Given the description of an element on the screen output the (x, y) to click on. 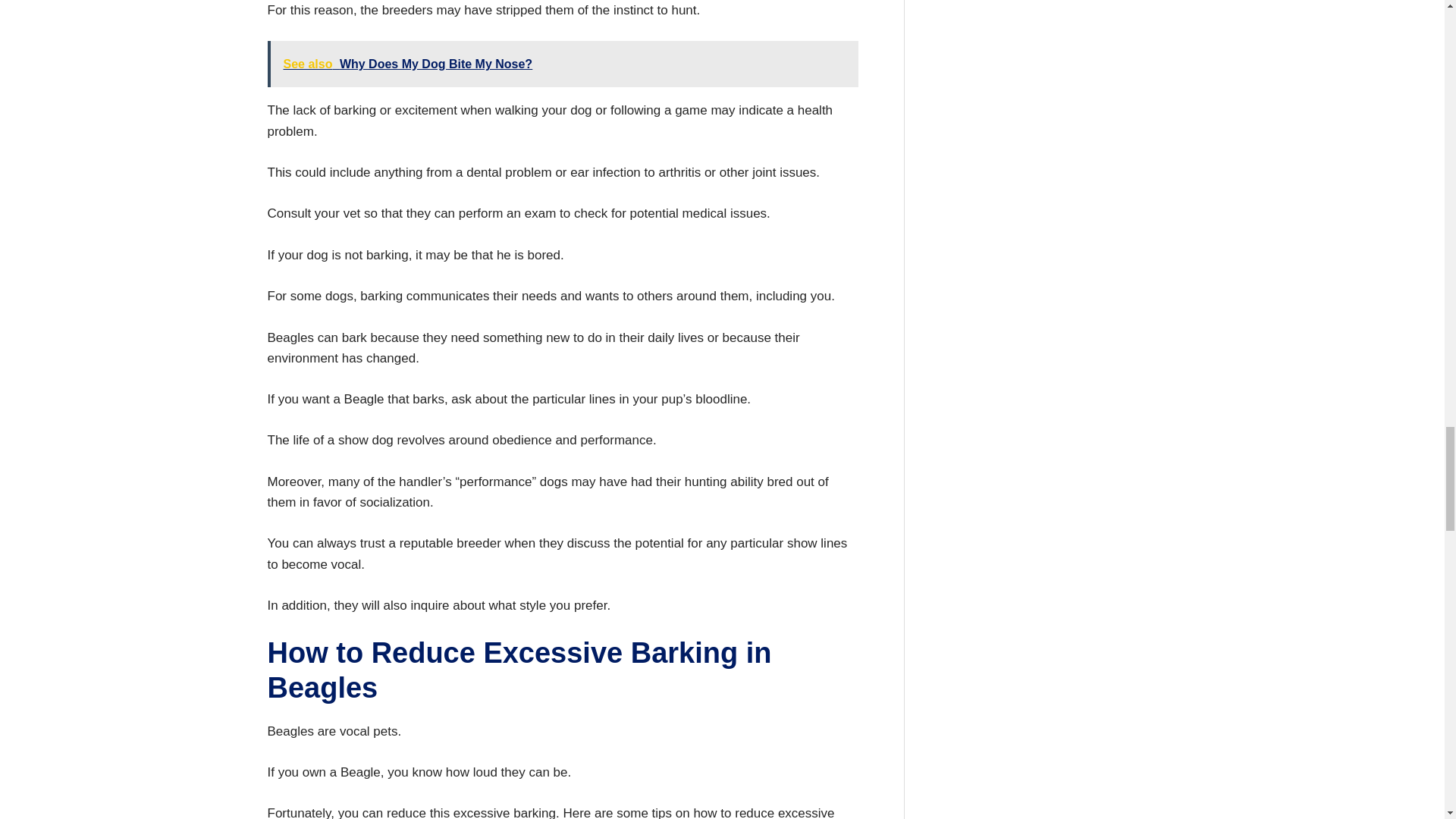
See also  Why Does My Dog Bite My Nose? (561, 63)
